Given the description of an element on the screen output the (x, y) to click on. 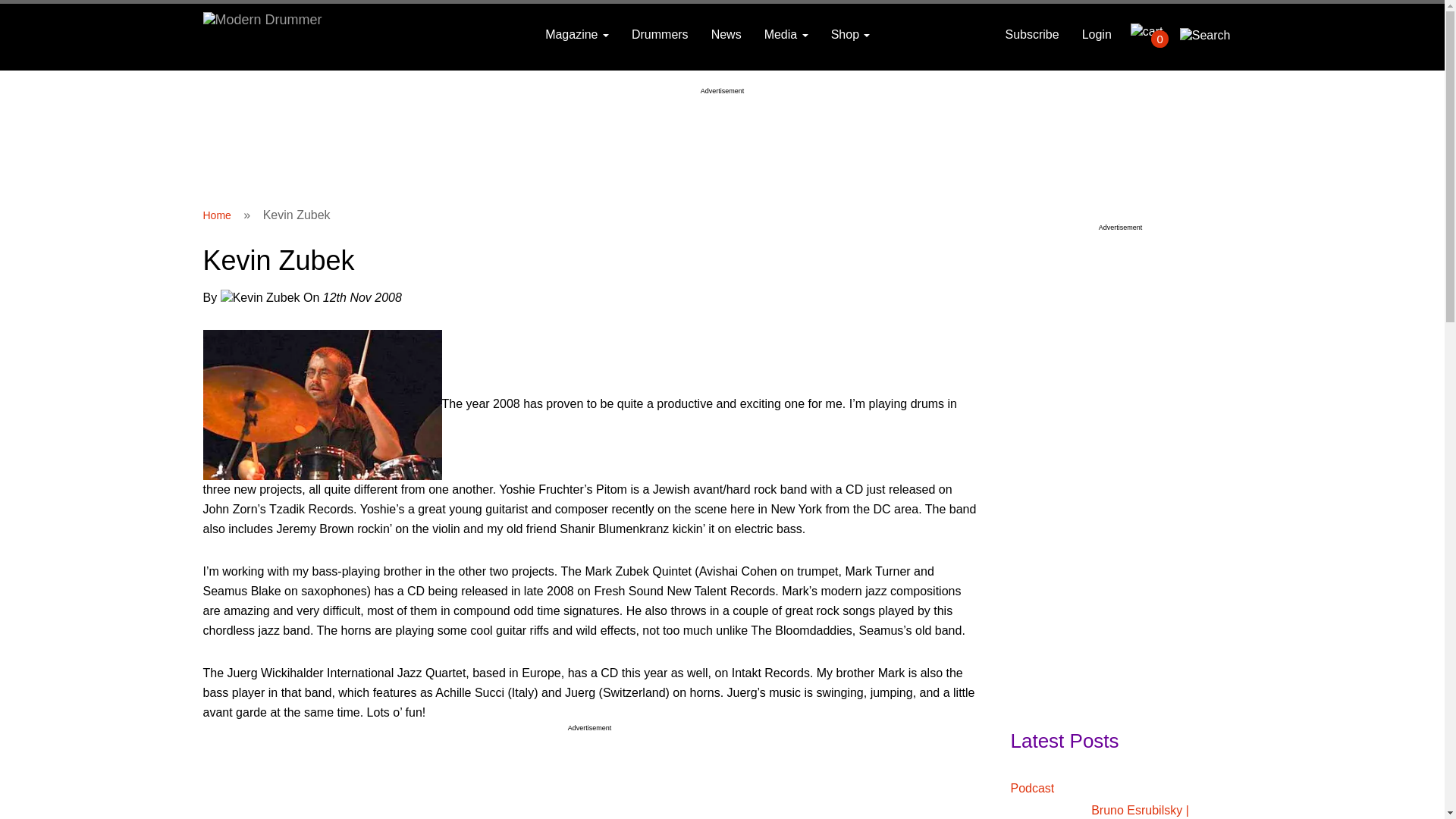
Magazine (577, 34)
Drummers (660, 34)
subscribe (1031, 34)
Media (785, 34)
Shop (850, 34)
0 (1150, 31)
View your Orders (1150, 31)
Subscribe (1031, 34)
